Given the description of an element on the screen output the (x, y) to click on. 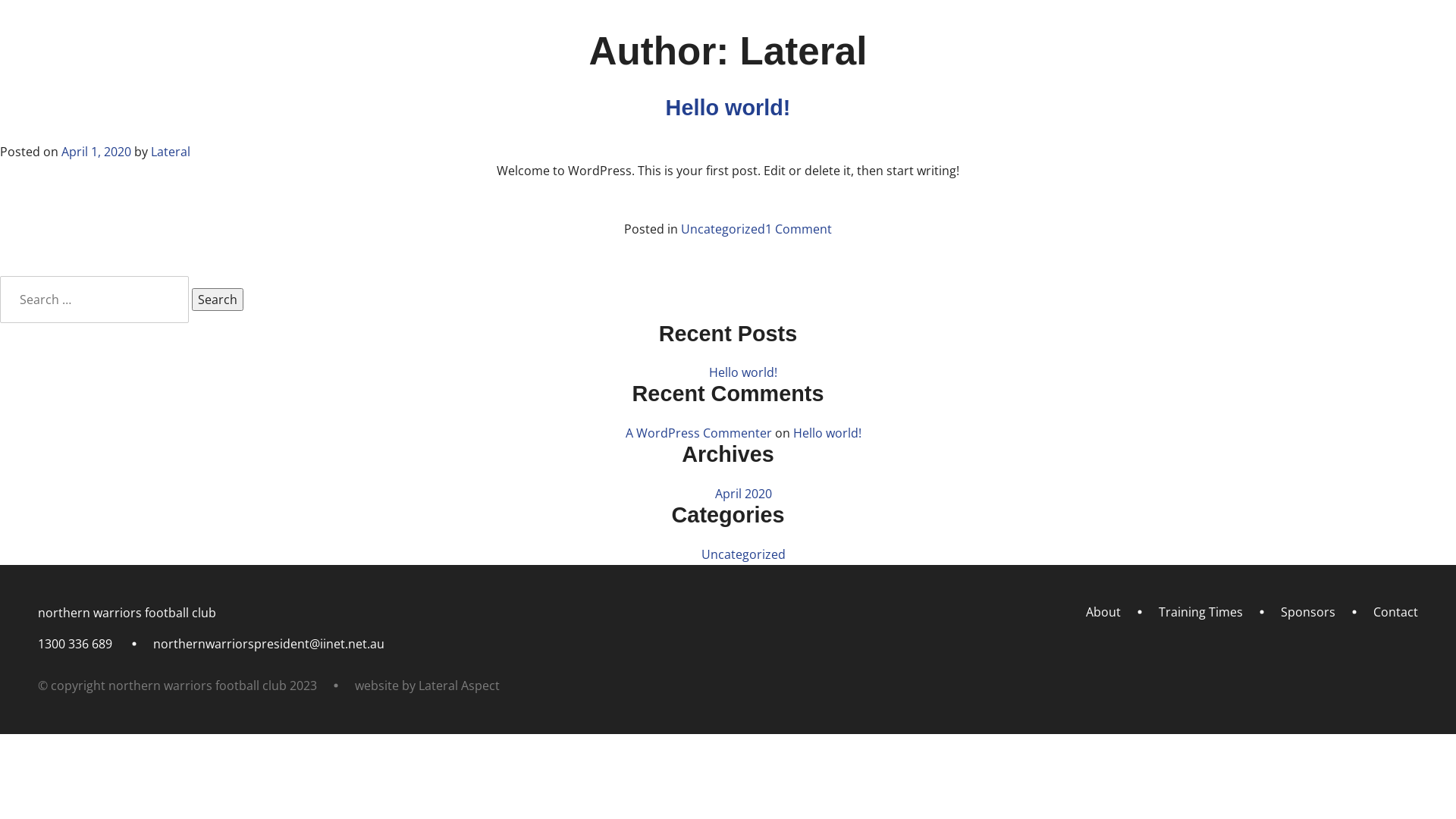
About Element type: text (1102, 611)
Uncategorized Element type: text (742, 554)
Hello world! Element type: text (827, 432)
Contact Element type: text (1391, 76)
Lateral Element type: text (170, 151)
Training Times Element type: text (1200, 611)
About Element type: text (1110, 76)
Skip to content Element type: text (0, 30)
Hello world! Element type: text (727, 107)
Search Element type: text (217, 299)
Uncategorized Element type: text (722, 228)
northernwarriorspresident@iinet.net.au Element type: text (268, 643)
A WordPress Commenter Element type: text (697, 432)
April 1, 2020 Element type: text (96, 151)
Sponsors Element type: text (1309, 76)
Lateral Aspect Element type: text (458, 685)
Sponsors Element type: text (1307, 611)
Hello world! Element type: text (743, 372)
April 2020 Element type: text (742, 493)
1 Comment
on Hello world! Element type: text (798, 228)
Contact Element type: text (1395, 611)
Training Times Element type: text (1203, 76)
1300 336 689 Element type: text (74, 643)
